Given the description of an element on the screen output the (x, y) to click on. 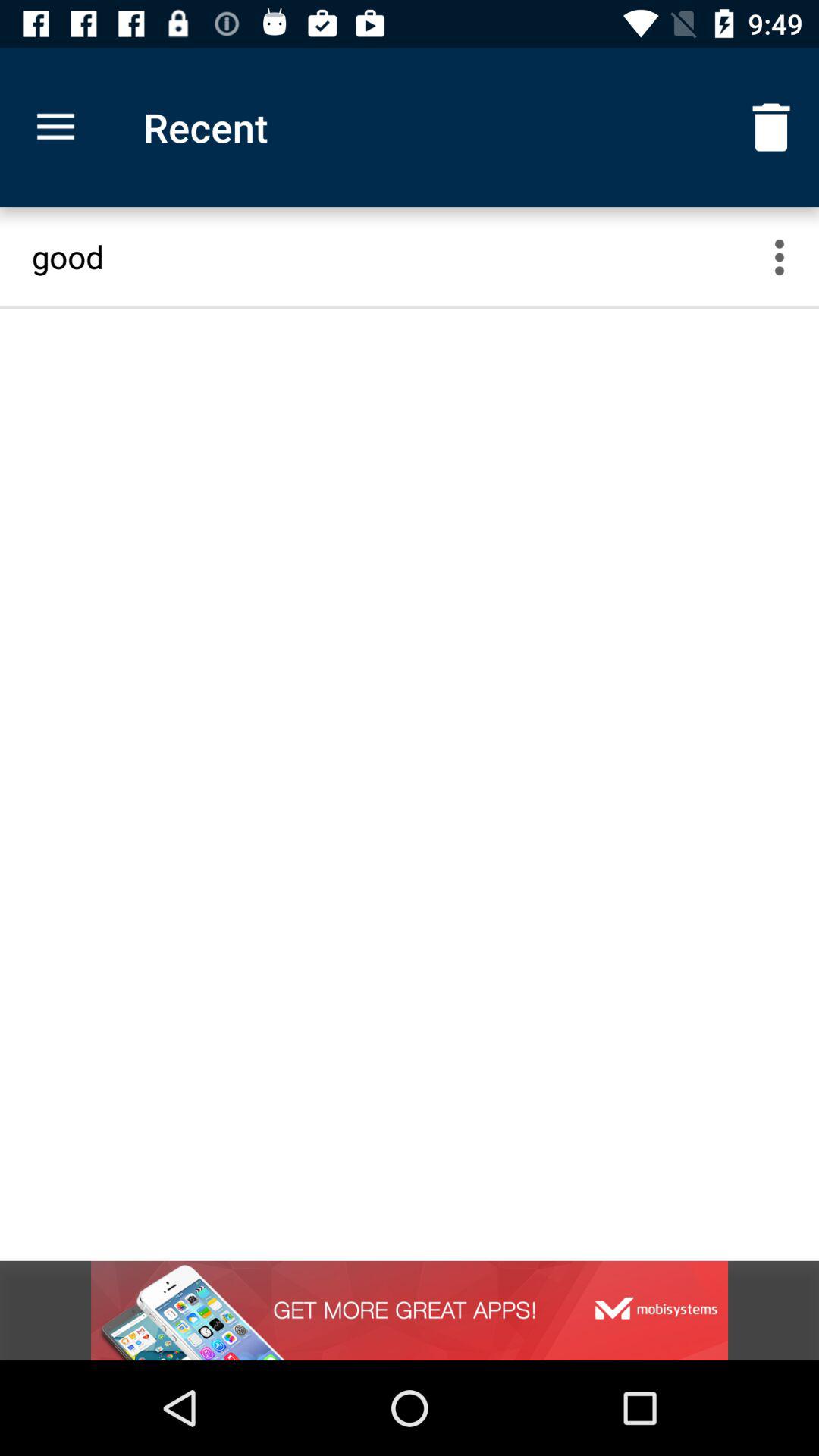
turn on icon to the left of recent icon (55, 127)
